Given the description of an element on the screen output the (x, y) to click on. 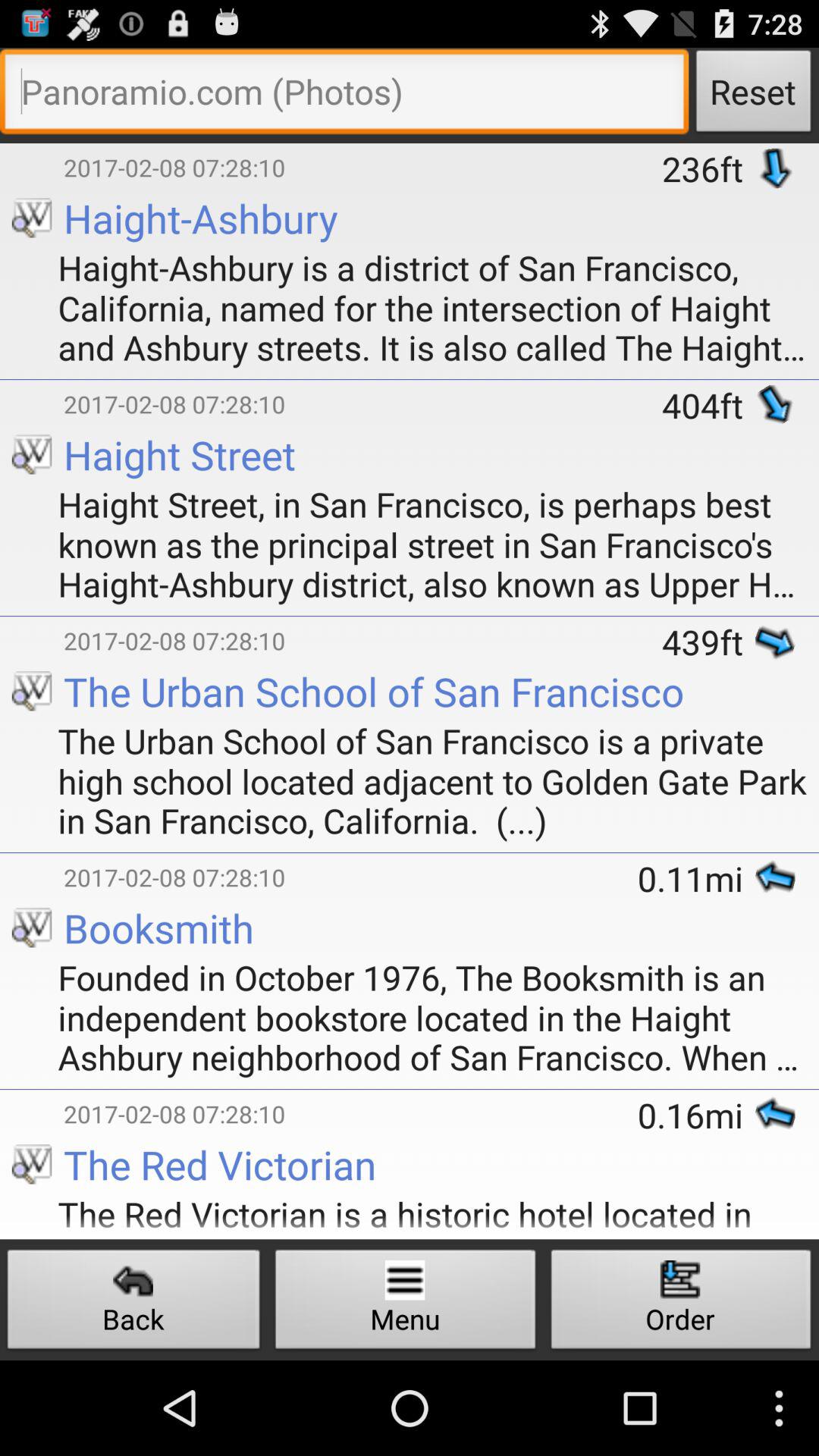
open app next to the the red victorian (13, 1192)
